Given the description of an element on the screen output the (x, y) to click on. 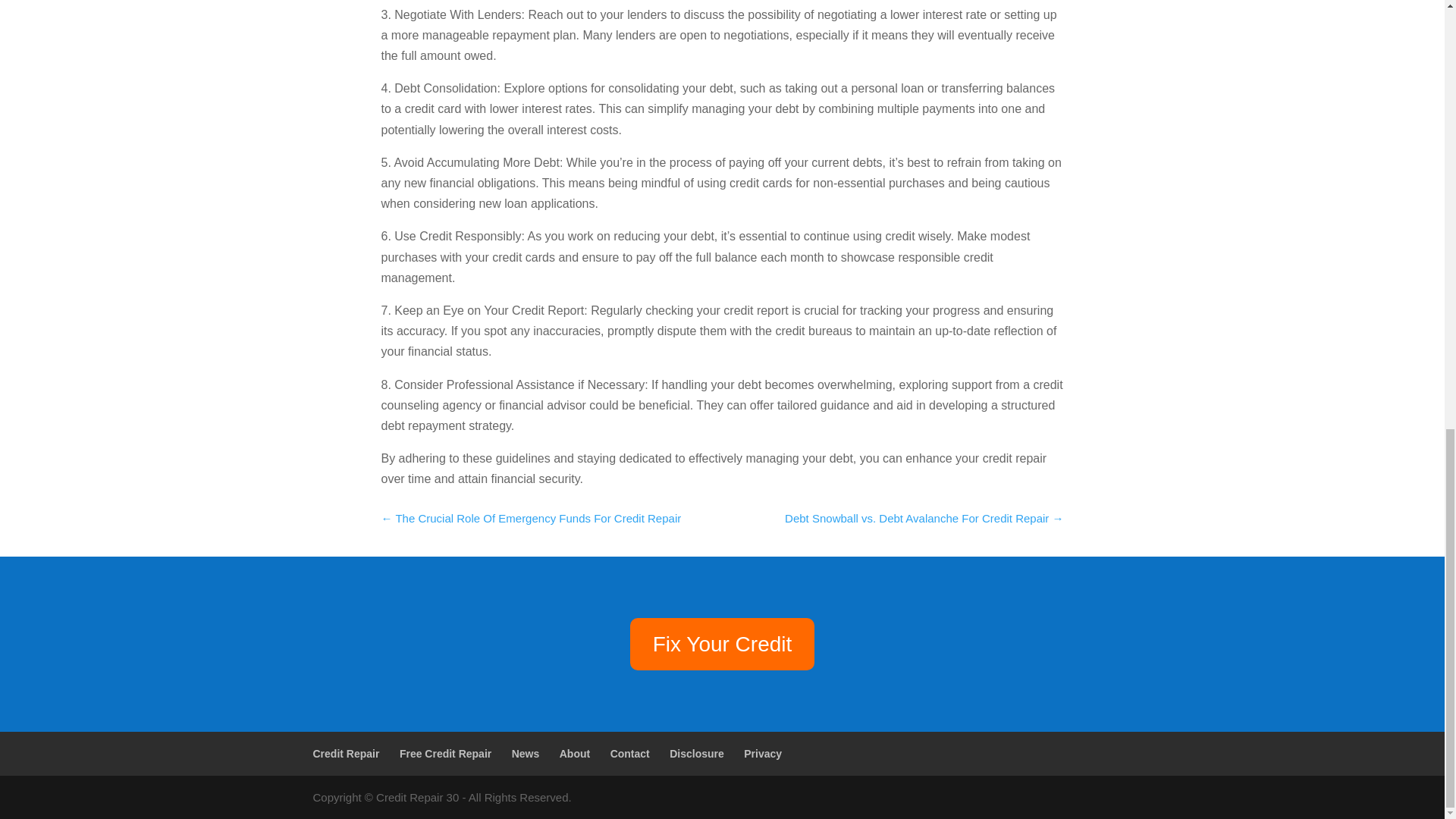
Disclosure (696, 753)
About (574, 753)
Fix Your Credit (722, 643)
News (526, 753)
Free Credit Repair (445, 753)
Contact (629, 753)
Privacy (762, 753)
Credit Repair (345, 753)
